Given the description of an element on the screen output the (x, y) to click on. 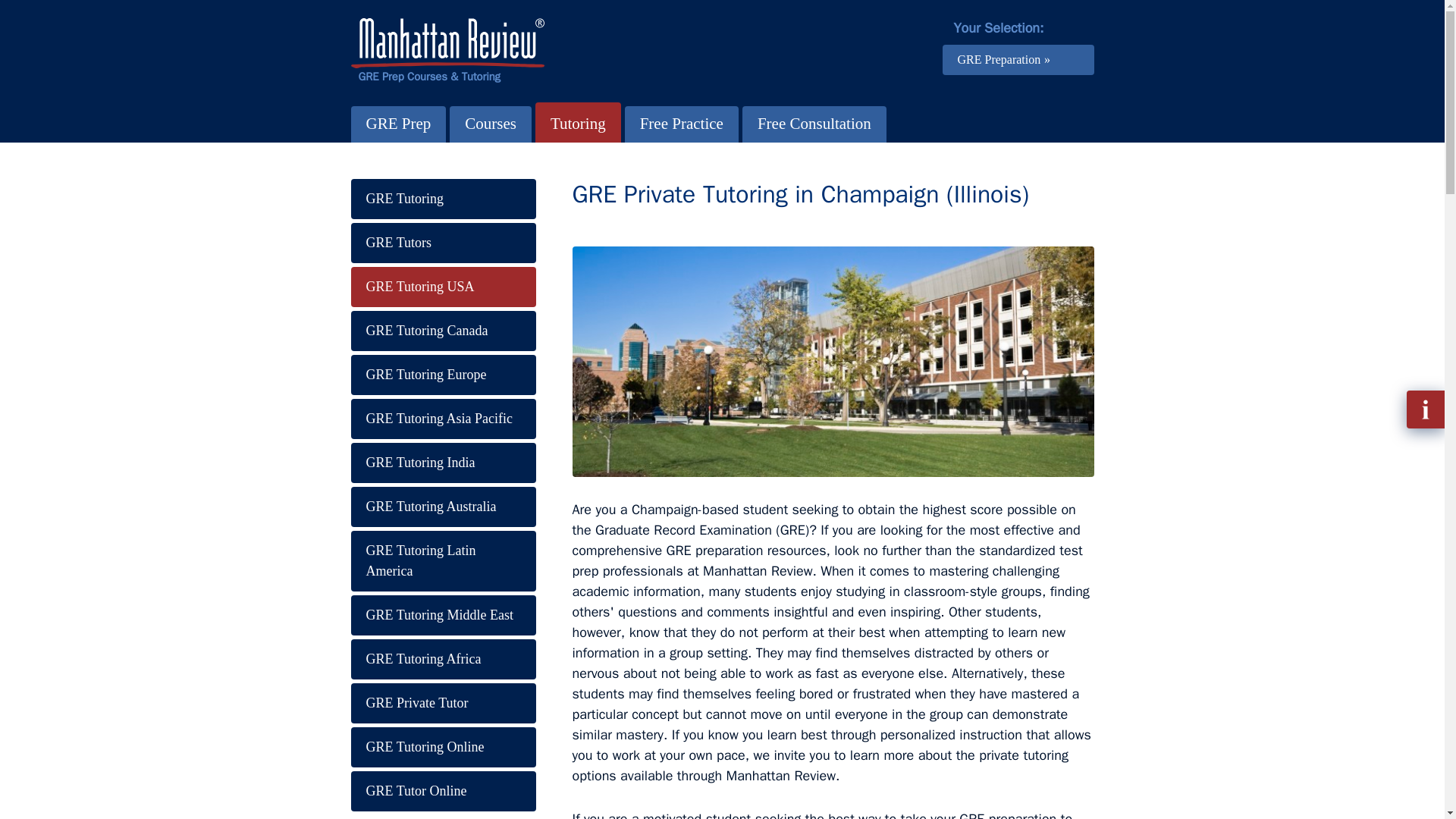
Link to homepage. (447, 51)
GRE Preparation (1017, 60)
Courses (490, 124)
GRE Prep (397, 124)
